Given the description of an element on the screen output the (x, y) to click on. 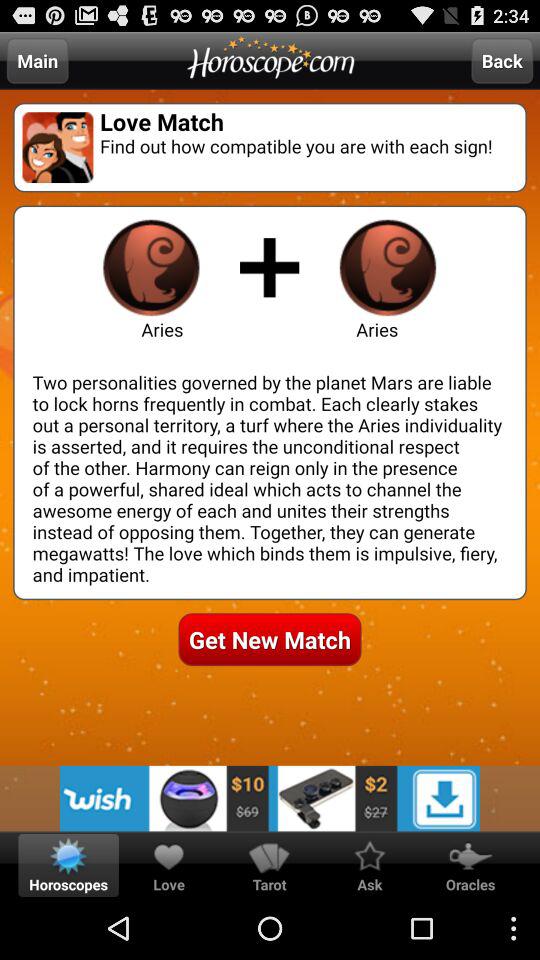
aries button (151, 267)
